Given the description of an element on the screen output the (x, y) to click on. 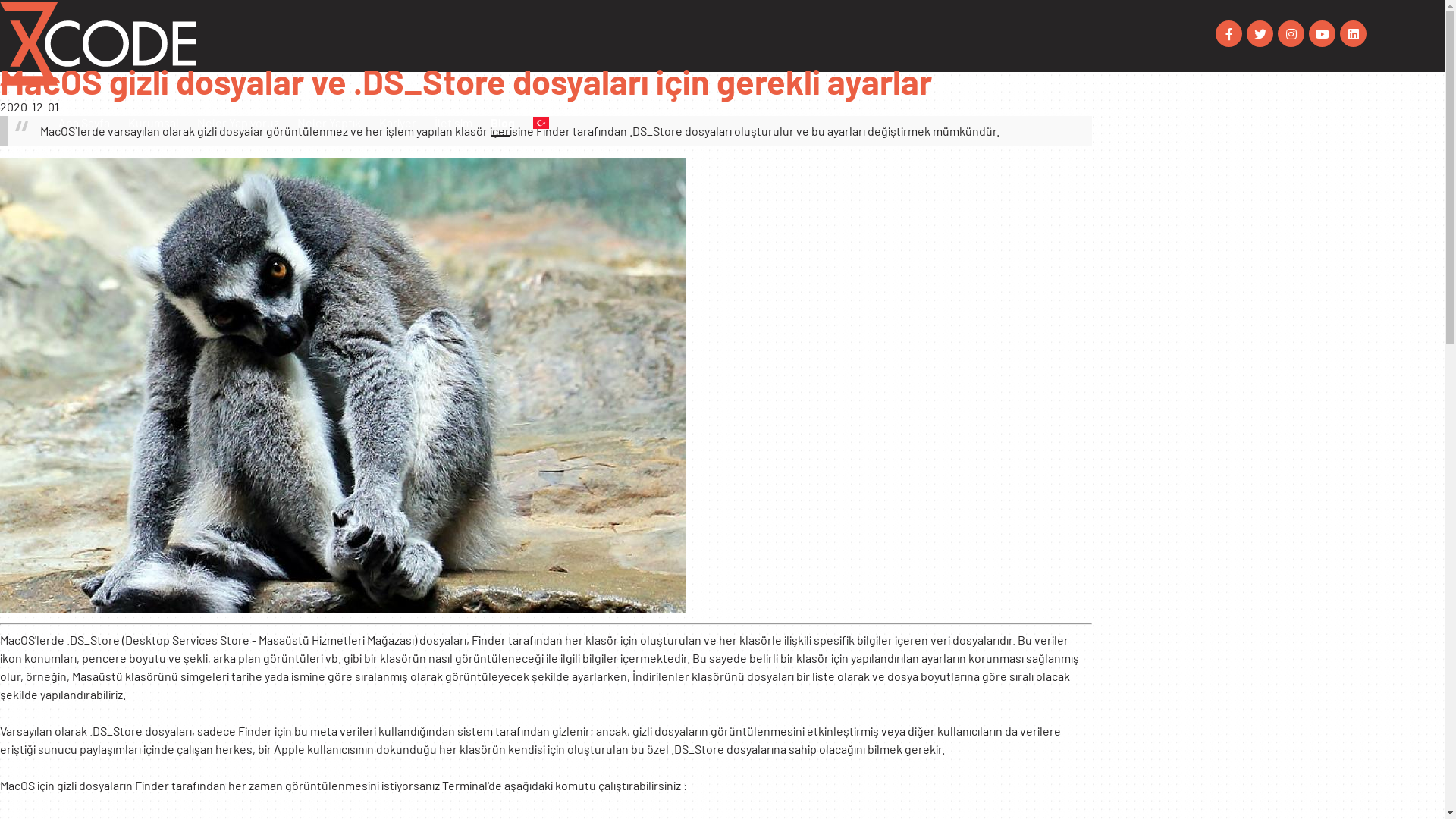
Kariyer Element type: text (397, 122)
Kurumsal Element type: text (153, 122)
Ana Sayfa Element type: text (83, 122)
Blog Element type: text (502, 122)
2020-12-01 Element type: text (29, 106)
